Given the description of an element on the screen output the (x, y) to click on. 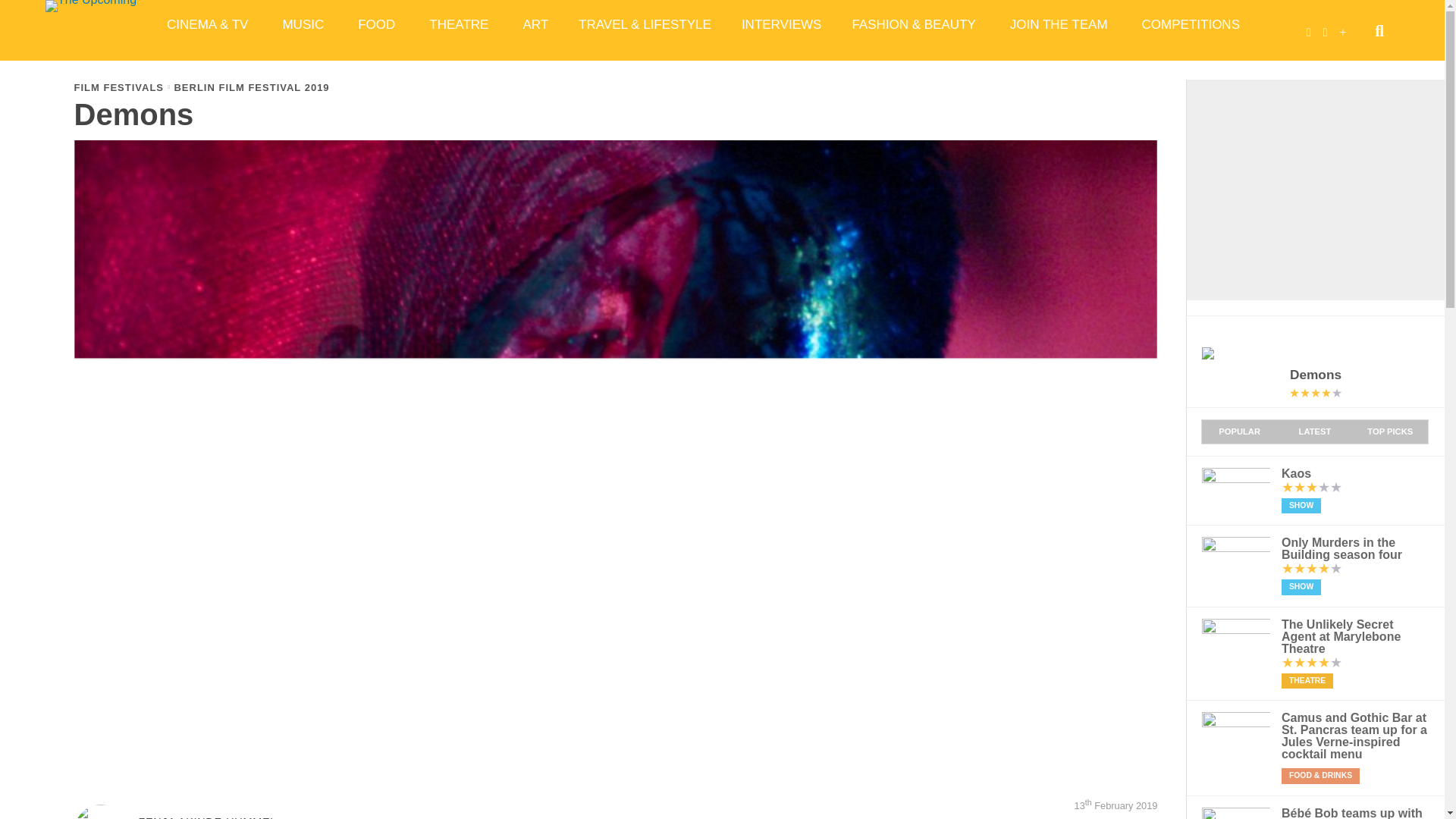
MUSIC (304, 24)
INTERVIEWS (780, 24)
FOOD (377, 24)
ART (534, 24)
JOIN THE TEAM (1060, 24)
THEATRE (459, 24)
